Given the description of an element on the screen output the (x, y) to click on. 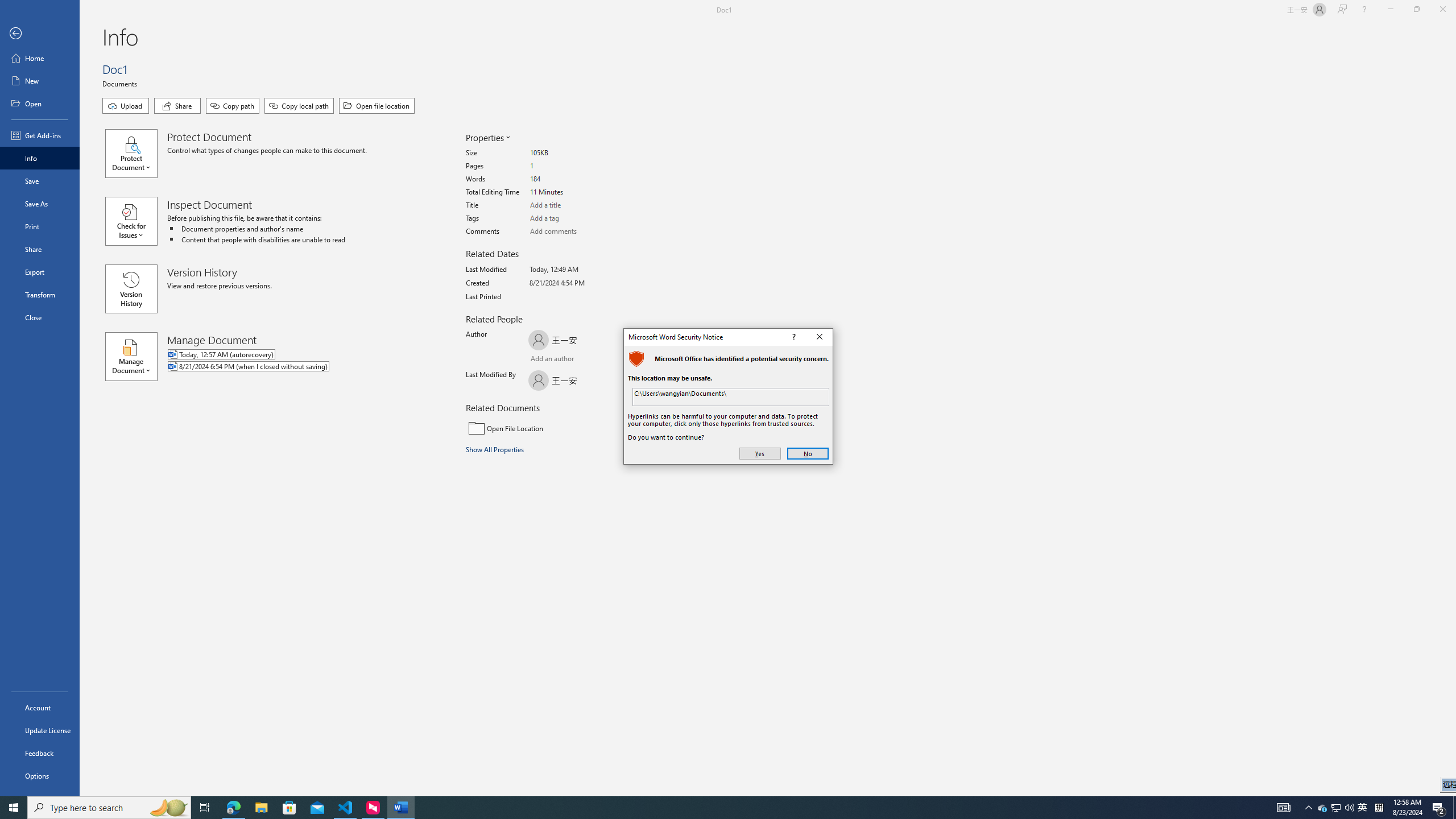
Open File Location (541, 427)
Word - 1 running window (400, 807)
Get Add-ins (40, 134)
Back (40, 33)
No (807, 453)
Upload (124, 105)
Account (40, 707)
Verify Names (559, 359)
Save (40, 180)
Close (819, 336)
Size (572, 153)
Visual Studio Code - 1 running window (345, 807)
Copy path (232, 105)
Transform (40, 294)
